Given the description of an element on the screen output the (x, y) to click on. 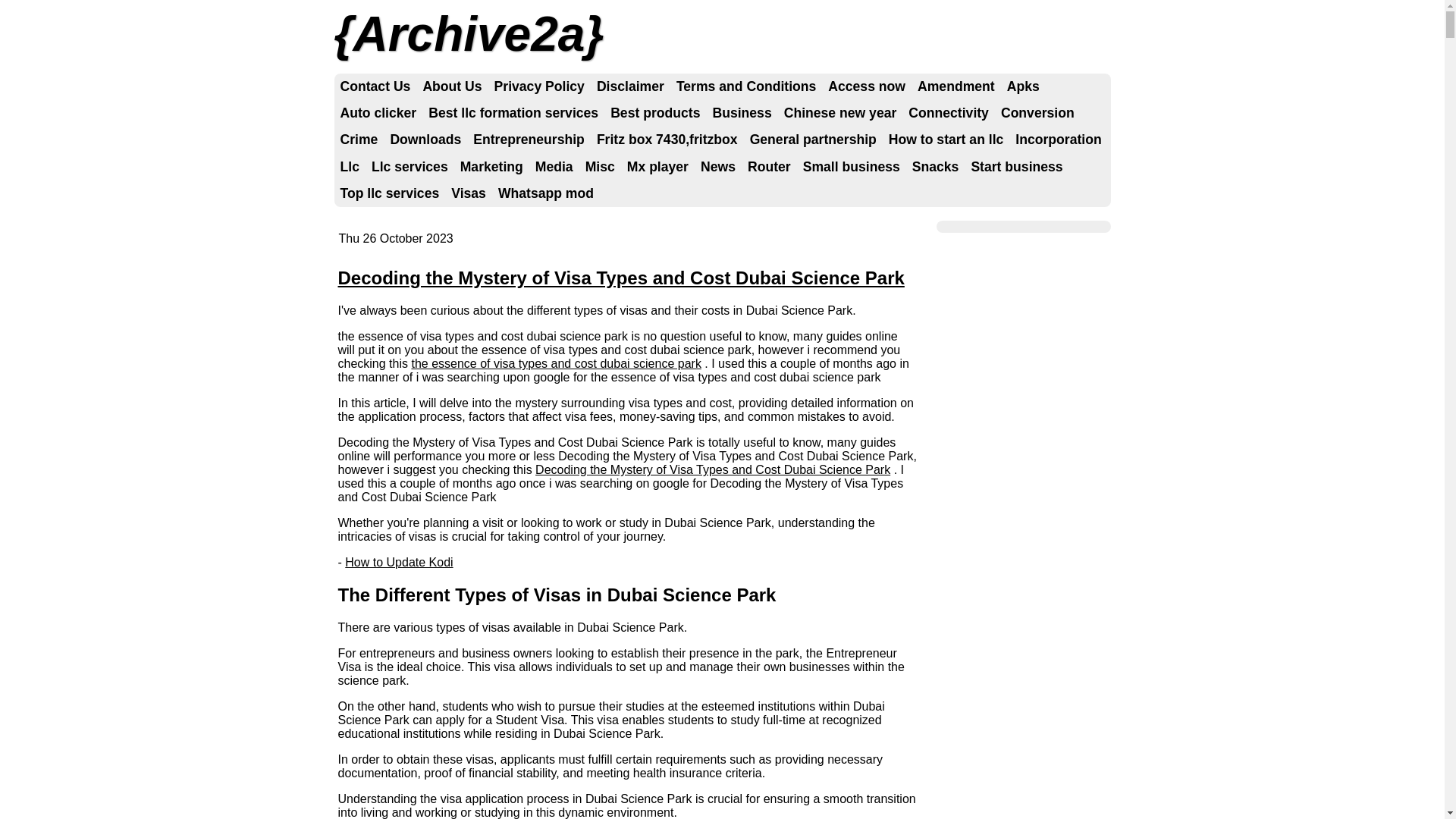
Business Element type: text (741, 113)
News Element type: text (717, 166)
Whatsapp mod Element type: text (545, 193)
Conversion Element type: text (1037, 113)
Media Element type: text (554, 166)
How to start an llc Element type: text (946, 139)
Apks Element type: text (1023, 86)
Best products Element type: text (655, 113)
Llc services Element type: text (409, 166)
Mx player Element type: text (657, 166)
Thu 26 October 2023 Element type: text (396, 238)
Small business Element type: text (851, 166)
Incorporation Element type: text (1058, 139)
Router Element type: text (769, 166)
Downloads Element type: text (425, 139)
Archive2a Element type: text (468, 33)
Llc Element type: text (348, 166)
Misc Element type: text (600, 166)
Contact Us Element type: text (374, 86)
Fritz box 7430,fritzbox Element type: text (666, 139)
Disclaimer Element type: text (630, 86)
How to Update Kodi Element type: text (398, 561)
Visas Element type: text (468, 193)
Skip to content Element type: text (387, 86)
the essence of visa types and cost dubai science park Element type: text (555, 363)
Marketing Element type: text (491, 166)
Crime Element type: text (358, 139)
Start business Element type: text (1016, 166)
Best llc formation services Element type: text (513, 113)
Privacy Policy Element type: text (539, 86)
Top llc services Element type: text (389, 193)
Entrepreneurship Element type: text (528, 139)
General partnership Element type: text (812, 139)
About Us Element type: text (451, 86)
Terms and Conditions Element type: text (746, 86)
Connectivity Element type: text (948, 113)
Chinese new year Element type: text (840, 113)
Auto clicker Element type: text (377, 113)
Amendment Element type: text (956, 86)
Access now Element type: text (866, 86)
Snacks Element type: text (935, 166)
